Given the description of an element on the screen output the (x, y) to click on. 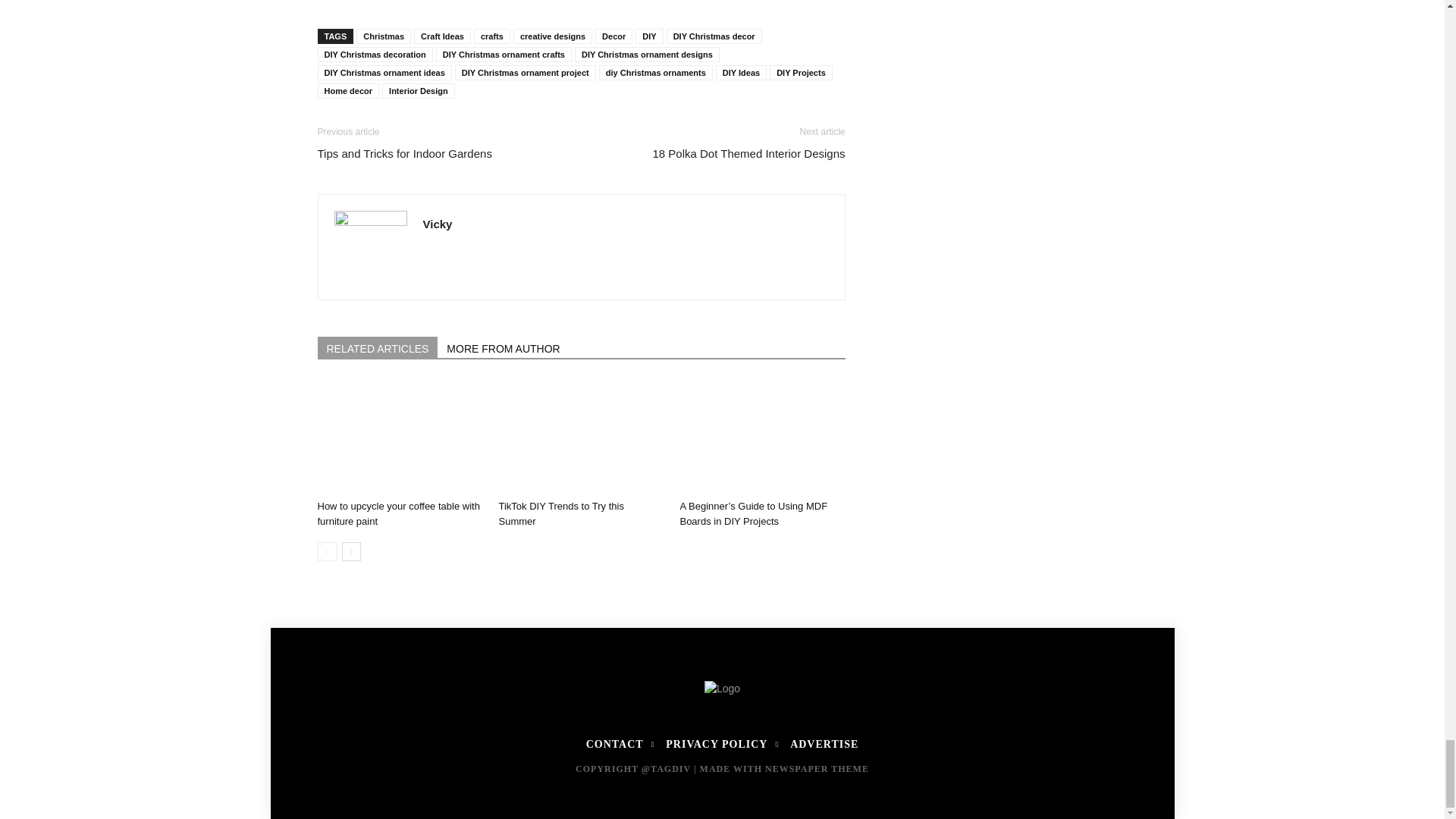
TikTok DIY Trends to Try this Summer (580, 436)
TikTok DIY Trends to Try this Summer (560, 513)
How to upcycle your coffee table with furniture paint (399, 436)
How to upcycle your coffee table with furniture paint (398, 513)
